Given the description of an element on the screen output the (x, y) to click on. 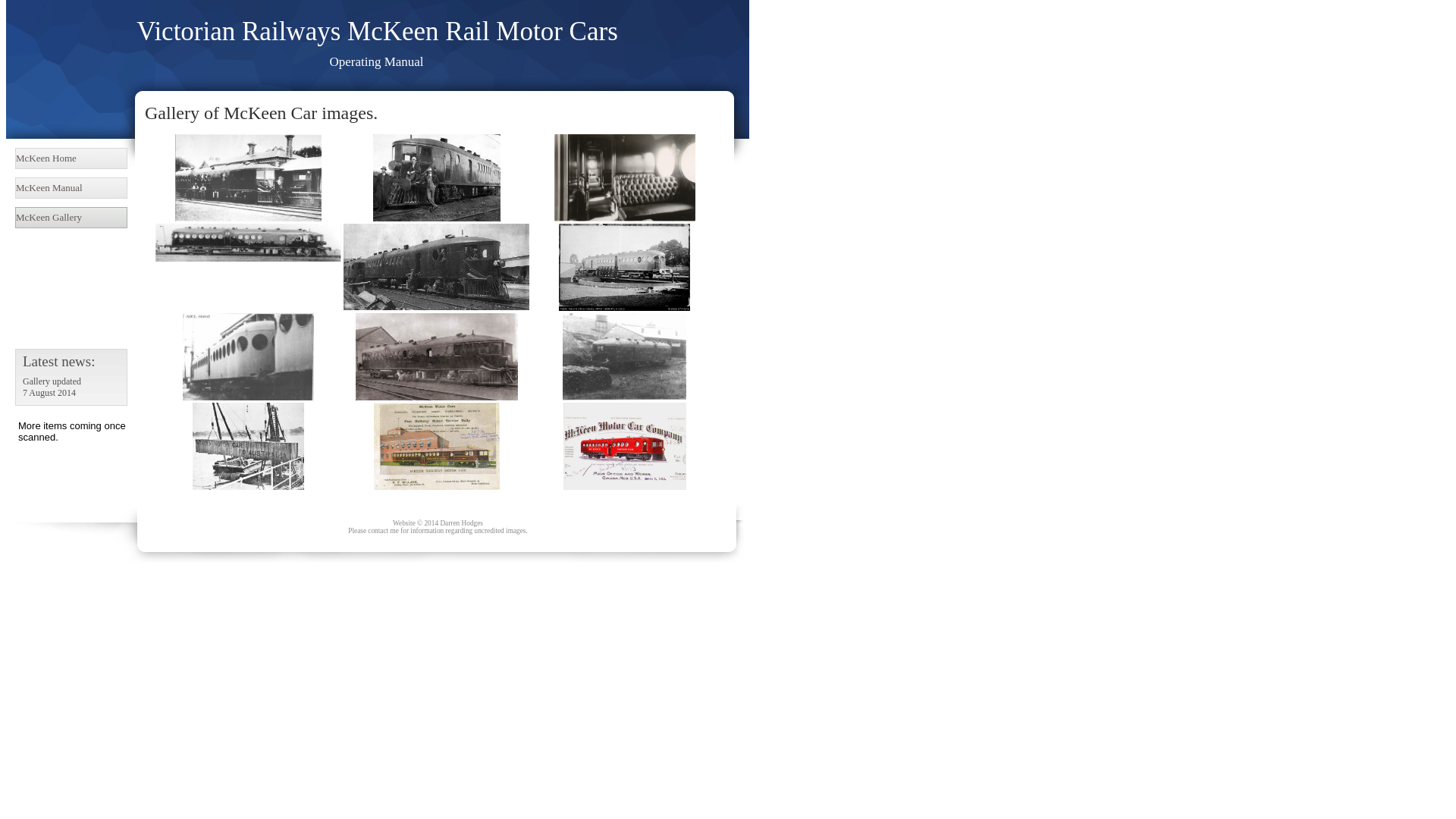
Warrnambool Element type: hover (624, 396)
Both cars at Wodonga on delivery Element type: hover (436, 306)
McKeen Home Element type: text (71, 158)
McKeenMotor Car No 1 at Talbot Element type: hover (248, 177)
Side view of No. 2 Element type: hover (248, 257)
McKeen Motor Car No. 1 Element type: hover (435, 396)
McKeen Gallery Element type: text (71, 217)
Side view of No. 2 Element type: hover (248, 242)
Both cars at Wodonga on delivery Element type: hover (436, 266)
McKeen Motor Car Company letterhead. Courtesy Bruce Payne Element type: hover (623, 486)
McKeenMotor Car No 1 at Talbot Element type: hover (248, 217)
McKeen Manual Element type: text (71, 187)
No. 2 at Hamilton Element type: hover (624, 307)
Stored De-engined cars (Peter J Vincent collection) Element type: hover (247, 356)
McKeen Motor Car Company letterhead. Courtesy Bruce Payne Element type: hover (623, 445)
No. 2 at Hamilton Element type: hover (624, 266)
McKeen Car.  Melbourne Museum image Element type: hover (436, 217)
Stored De-engined cars (Peter J Vincent collection) Element type: hover (247, 396)
McKeen Car.  Melbourne Museum image Element type: hover (436, 177)
McKeen Motor Car No. 1 Element type: hover (435, 356)
Warrnambool Element type: hover (624, 356)
